Given the description of an element on the screen output the (x, y) to click on. 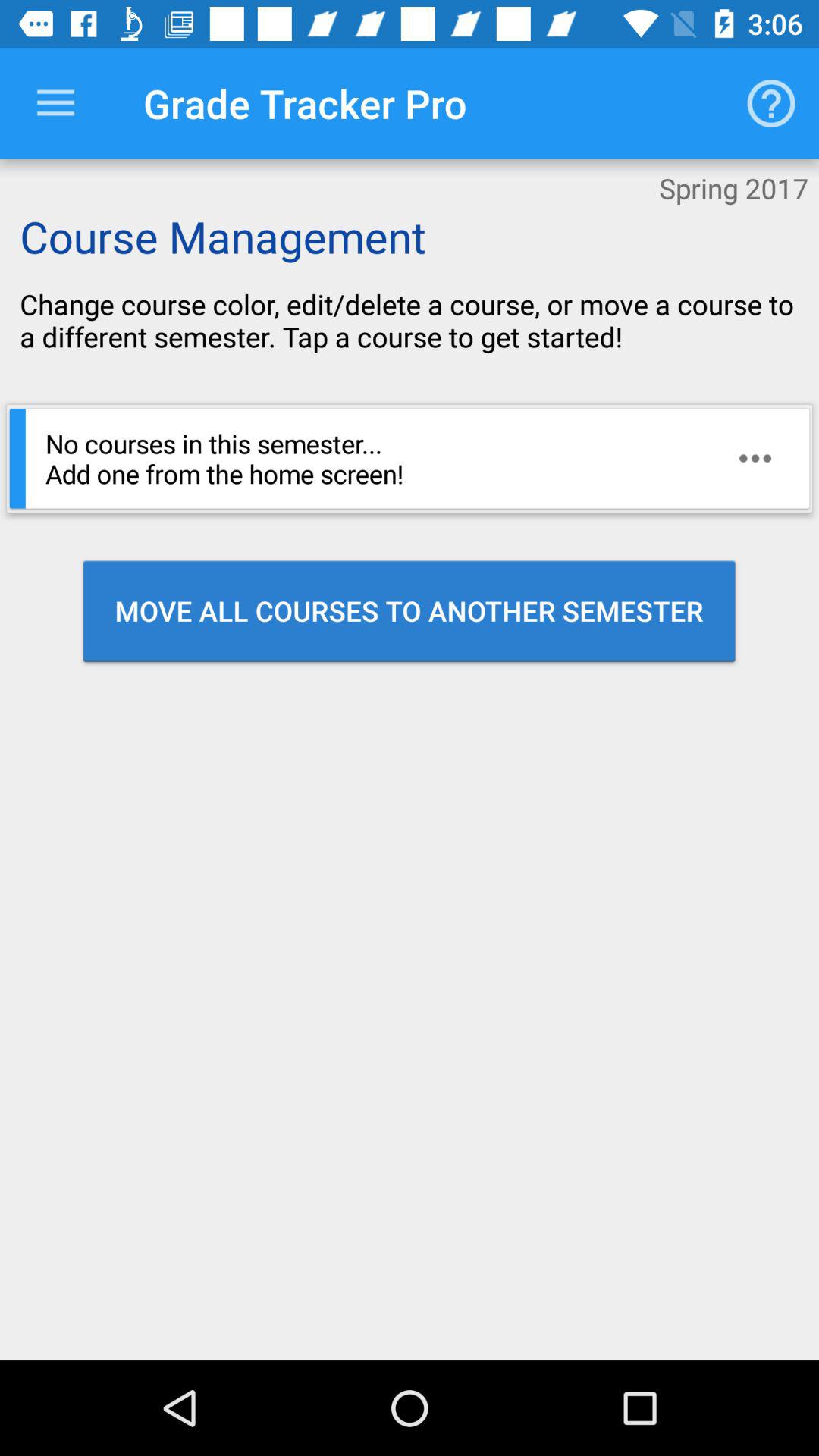
turn on icon at the center (409, 610)
